Given the description of an element on the screen output the (x, y) to click on. 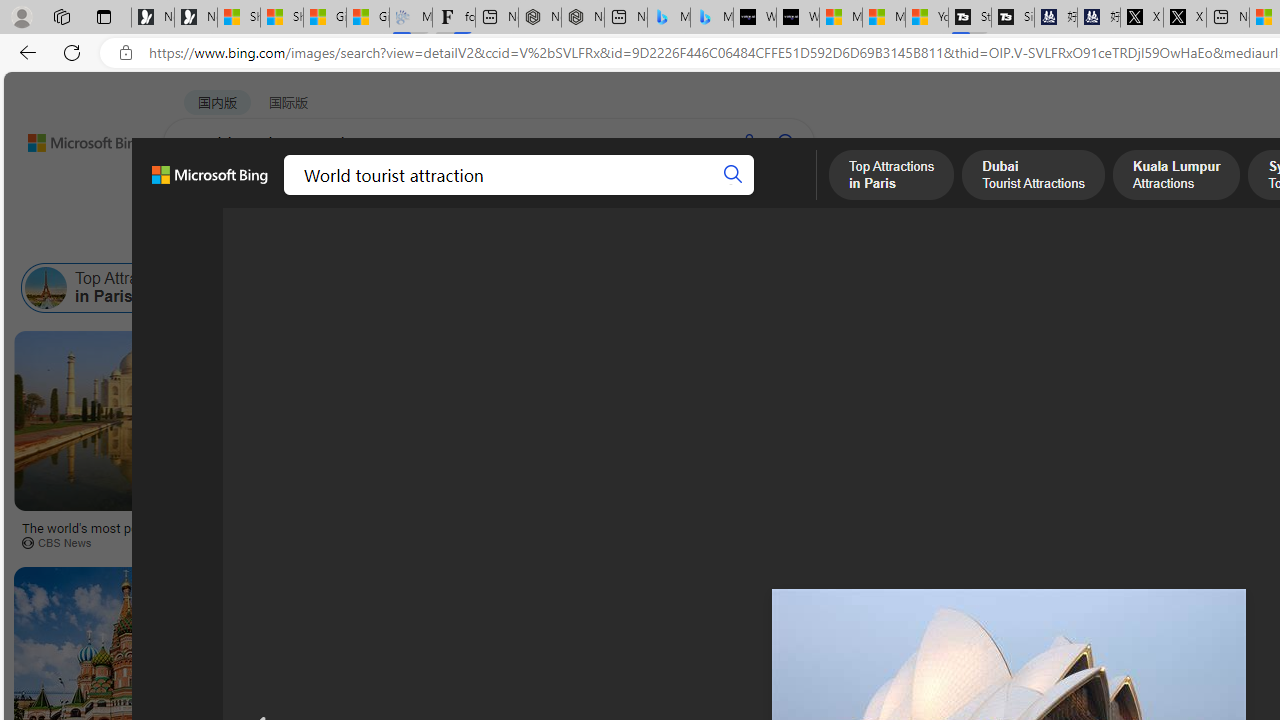
People (520, 237)
Kuala Lumpur Attractions (443, 287)
Egypt Tourism (913, 287)
Back to Bing search (73, 138)
Attractions in Italy (1089, 287)
Layout (443, 237)
Dubai Tourist Attractions (233, 287)
